Given the description of an element on the screen output the (x, y) to click on. 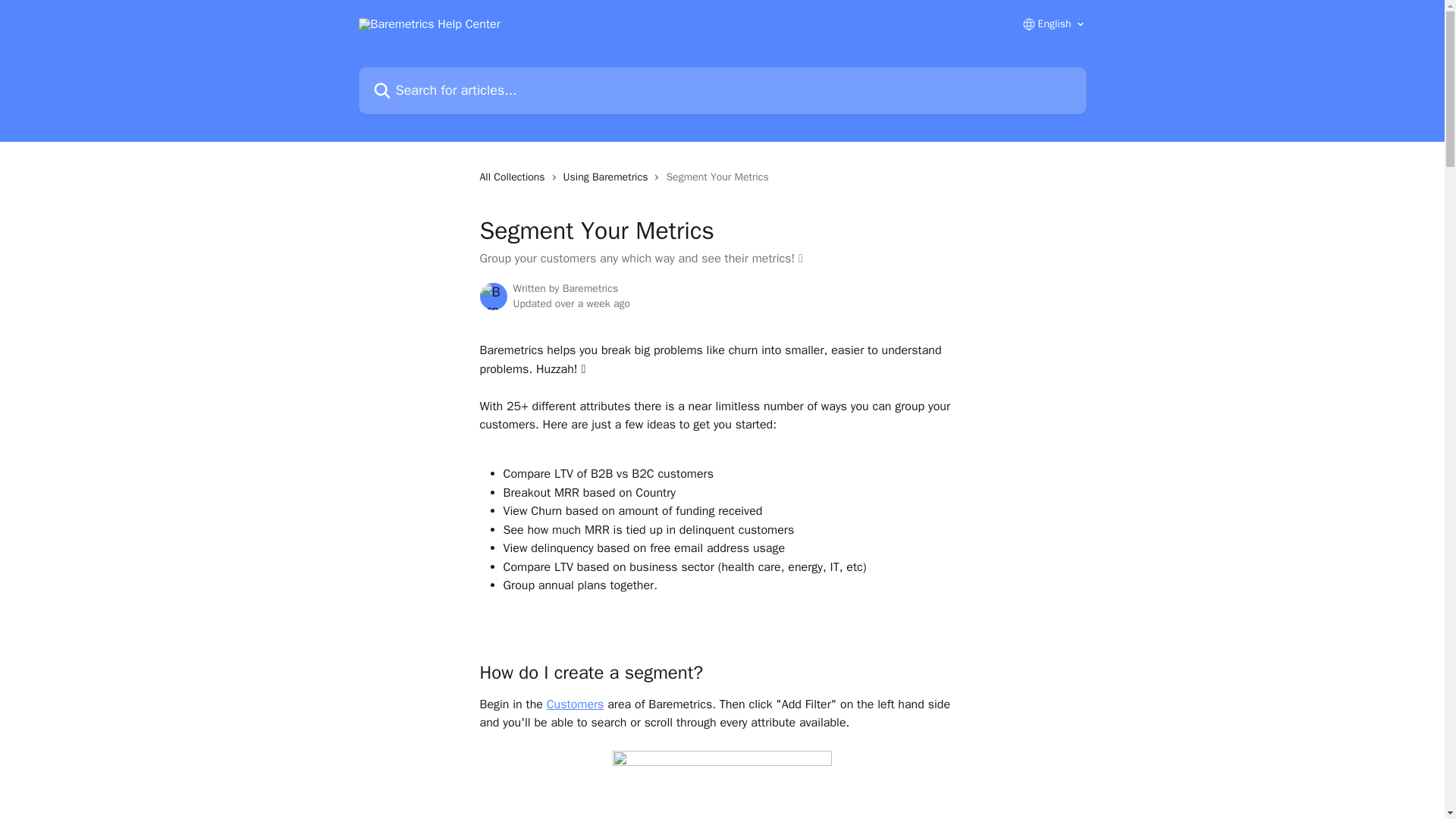
Using Baremetrics (608, 176)
Customers (575, 703)
All Collections (514, 176)
